Given the description of an element on the screen output the (x, y) to click on. 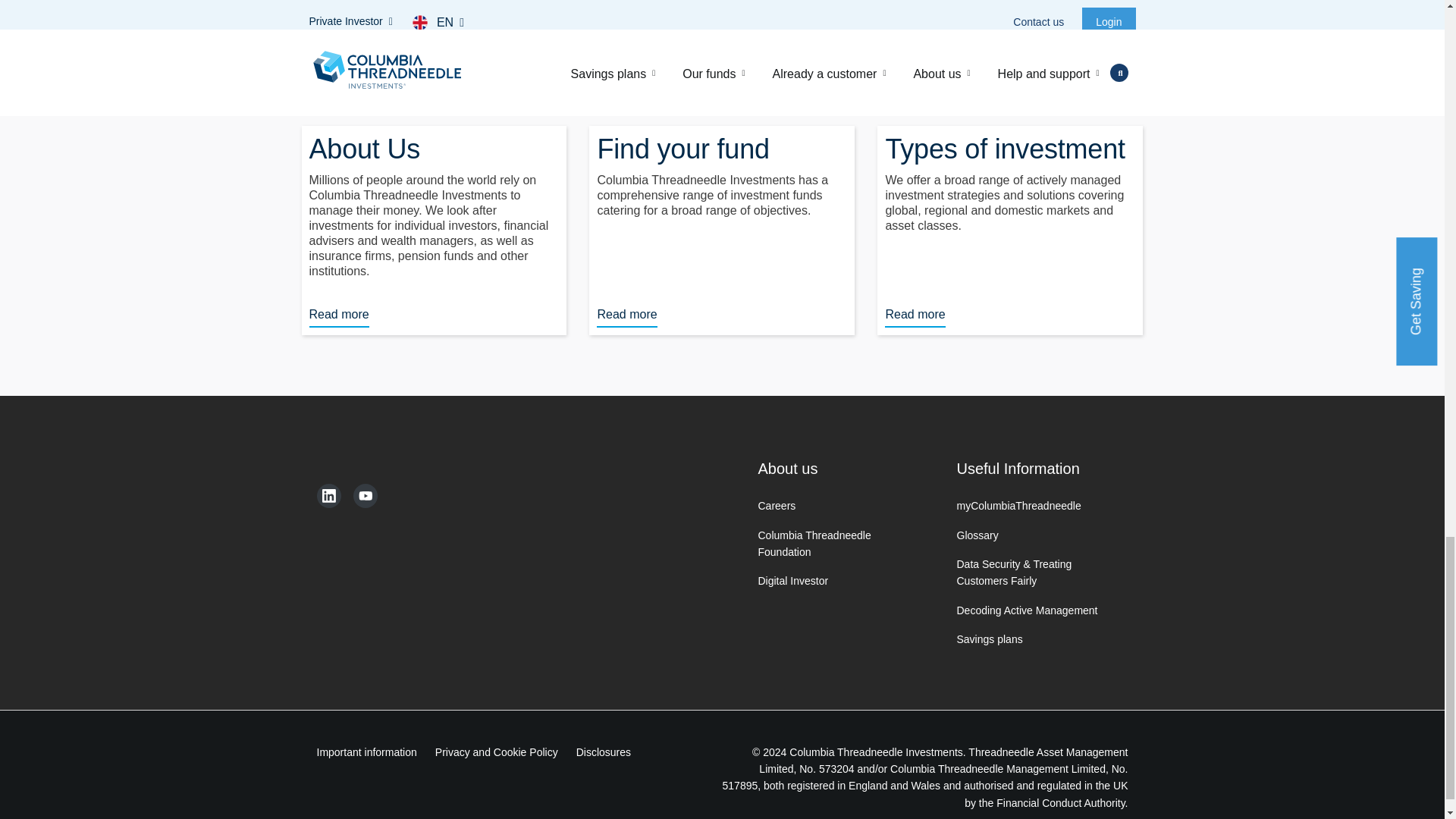
Read more (338, 317)
Read more (626, 317)
